Given the description of an element on the screen output the (x, y) to click on. 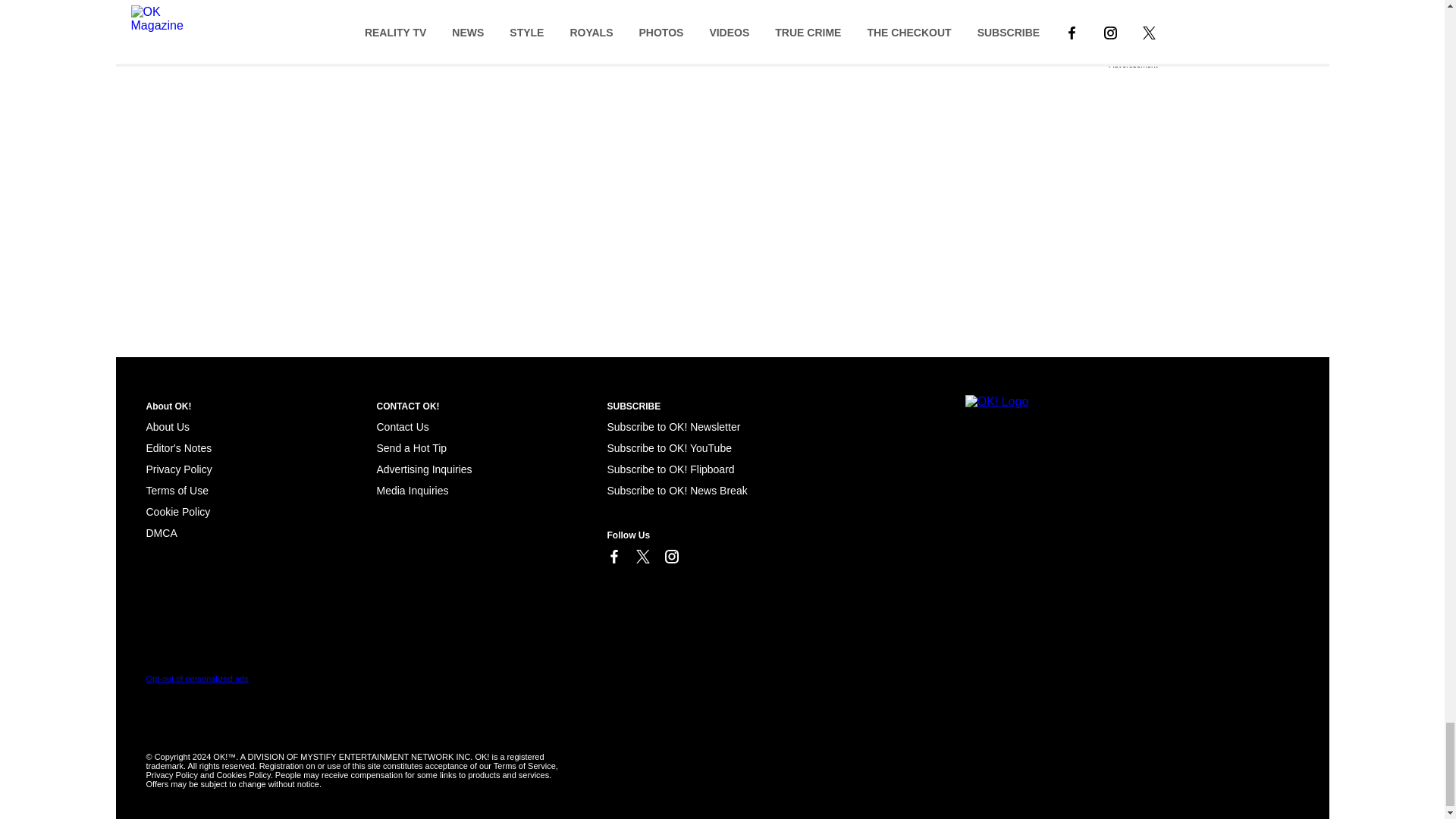
Link to Facebook (613, 556)
Editor's Notes (178, 448)
Send a Hot Tip (410, 448)
Contact Us (401, 426)
Advertising Inquiries (423, 469)
Cookie Policy (177, 511)
Media Inquiries (411, 490)
Terms of Use (176, 490)
Link to Instagram (670, 556)
Link to X (641, 556)
About Us (167, 426)
Privacy Policy (178, 469)
Cookie Policy (160, 532)
